Given the description of an element on the screen output the (x, y) to click on. 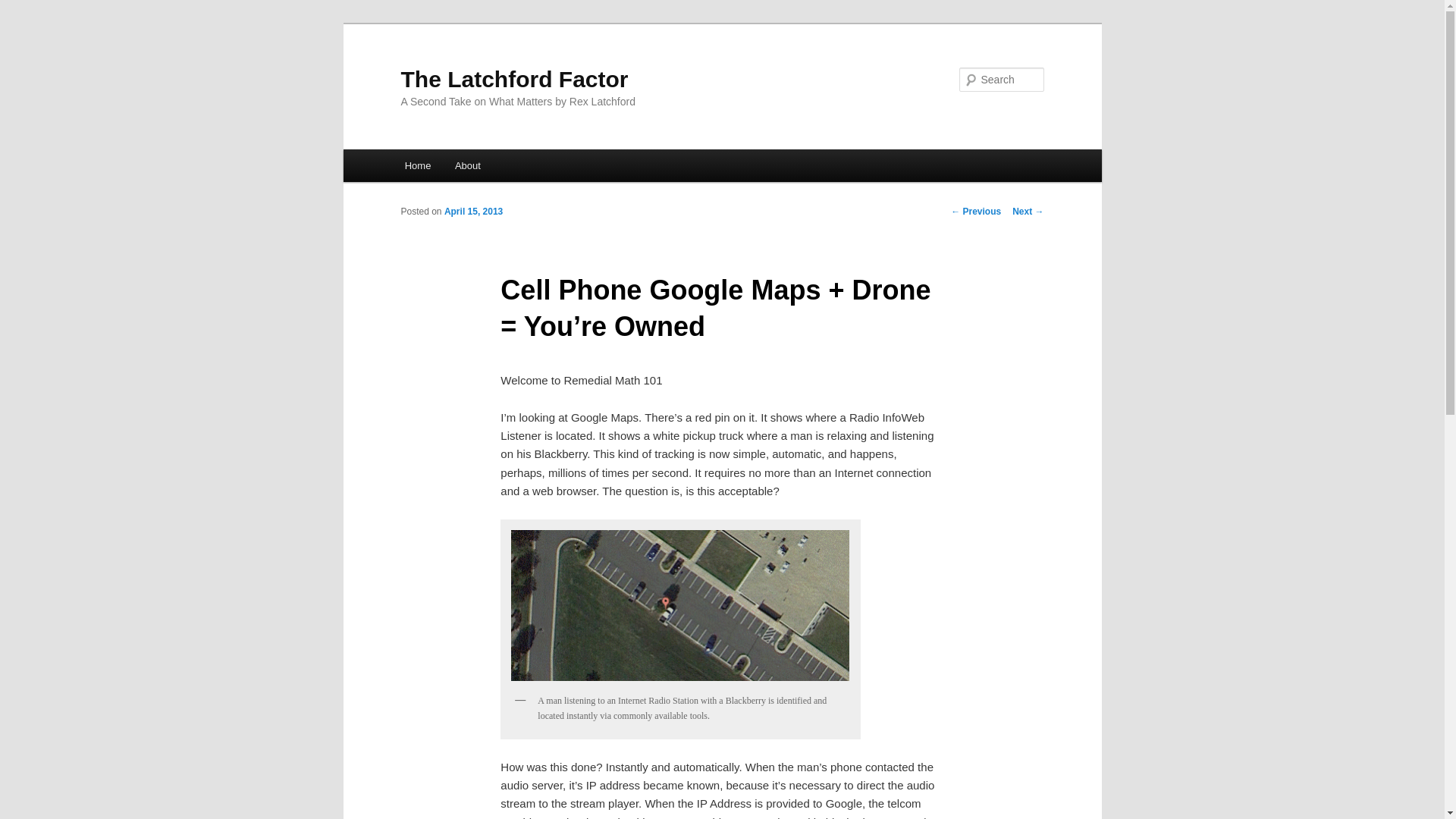
April 15, 2013 (473, 211)
Search (24, 8)
About (467, 165)
Skip to primary content (472, 168)
Home (417, 165)
The Latchford Factor (513, 78)
5:38 pm (473, 211)
